Given the description of an element on the screen output the (x, y) to click on. 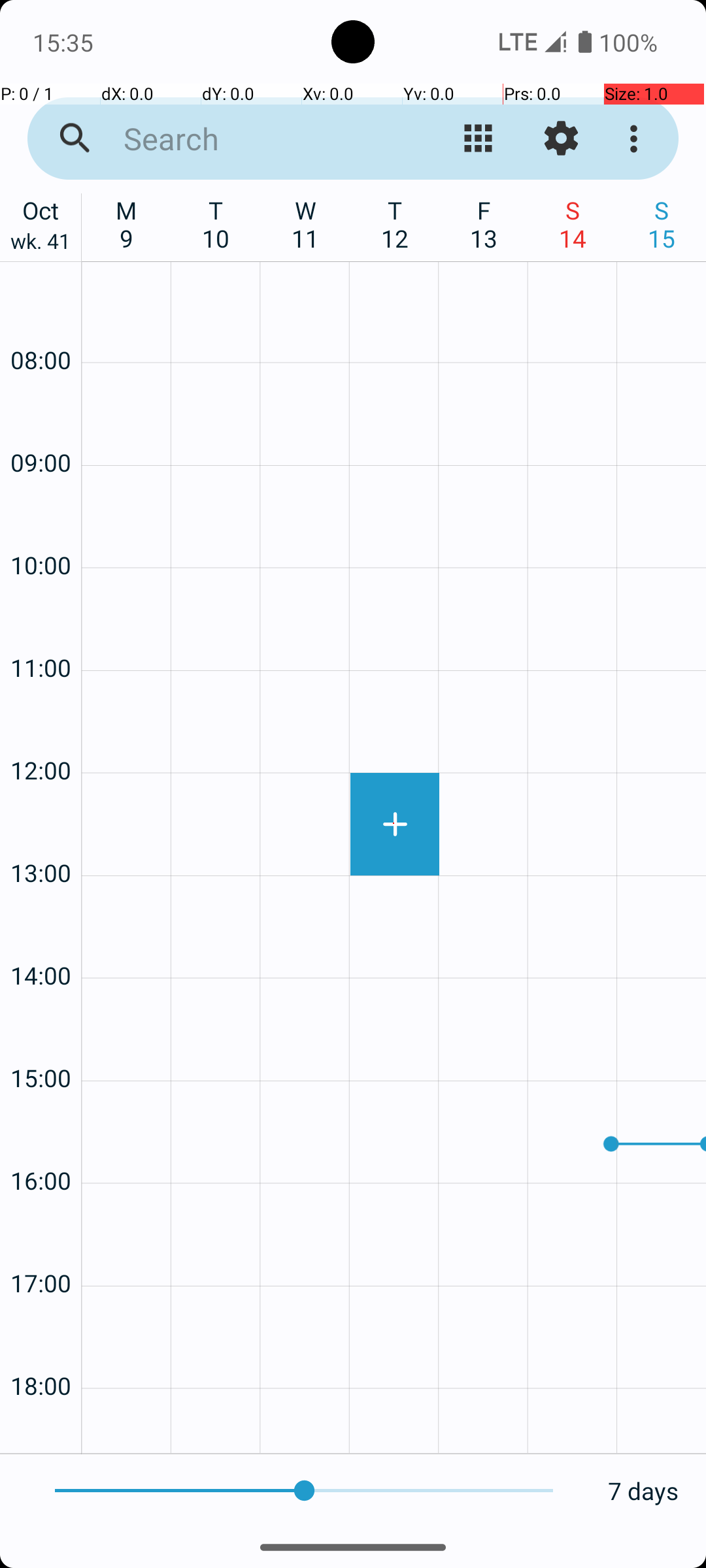
wk. 41 Element type: android.widget.TextView (40, 243)
M
9 Element type: android.widget.TextView (126, 223)
T
10 Element type: android.widget.TextView (215, 223)
W
11 Element type: android.widget.TextView (305, 223)
T
12 Element type: android.widget.TextView (394, 223)
F
13 Element type: android.widget.TextView (483, 223)
S
14 Element type: android.widget.TextView (572, 223)
